Given the description of an element on the screen output the (x, y) to click on. 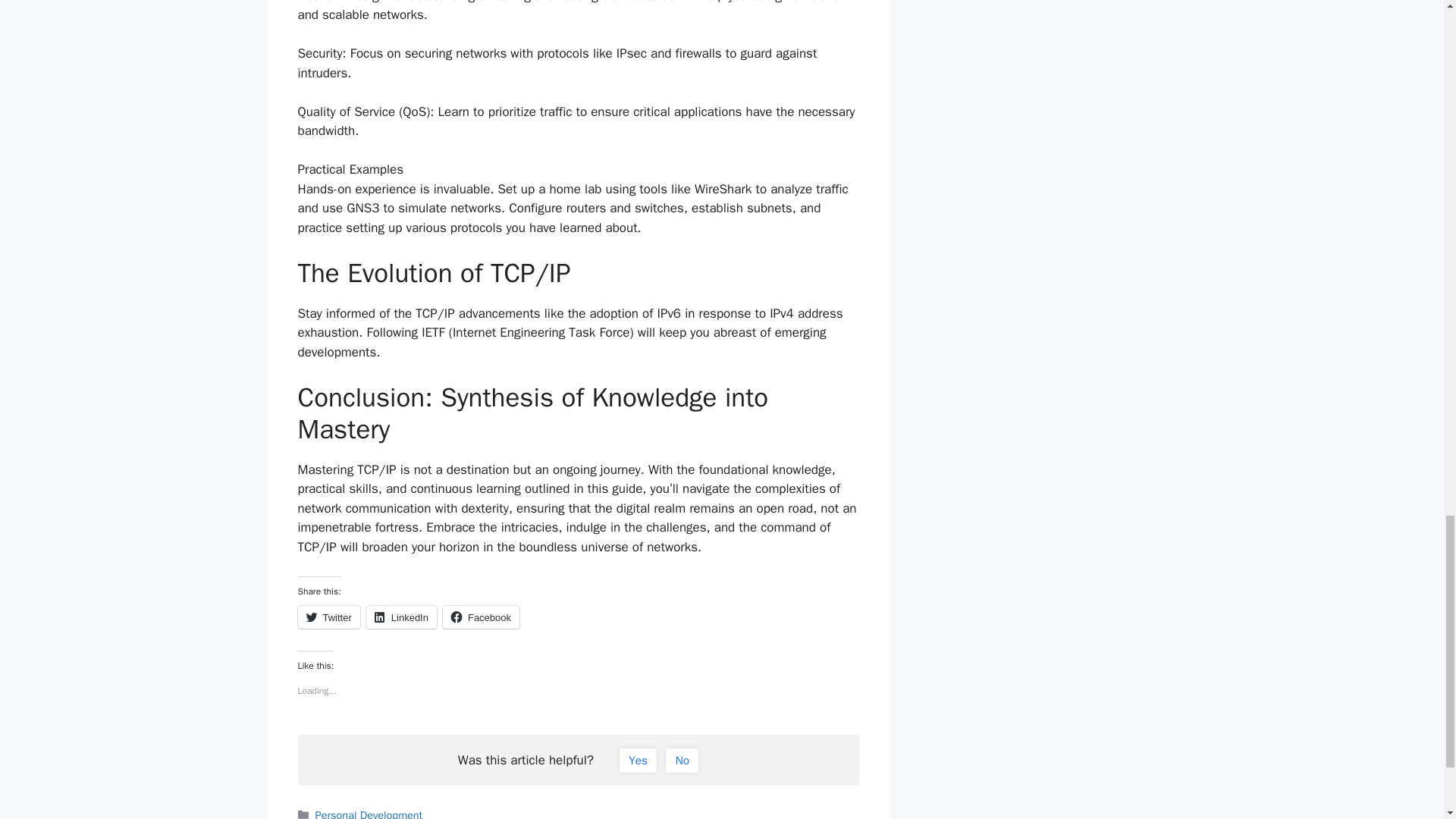
LinkedIn (401, 617)
Personal Development (369, 813)
Click to share on Facebook (480, 617)
Facebook (480, 617)
Click to share on LinkedIn (401, 617)
Twitter (328, 617)
Click to share on Twitter (328, 617)
